Given the description of an element on the screen output the (x, y) to click on. 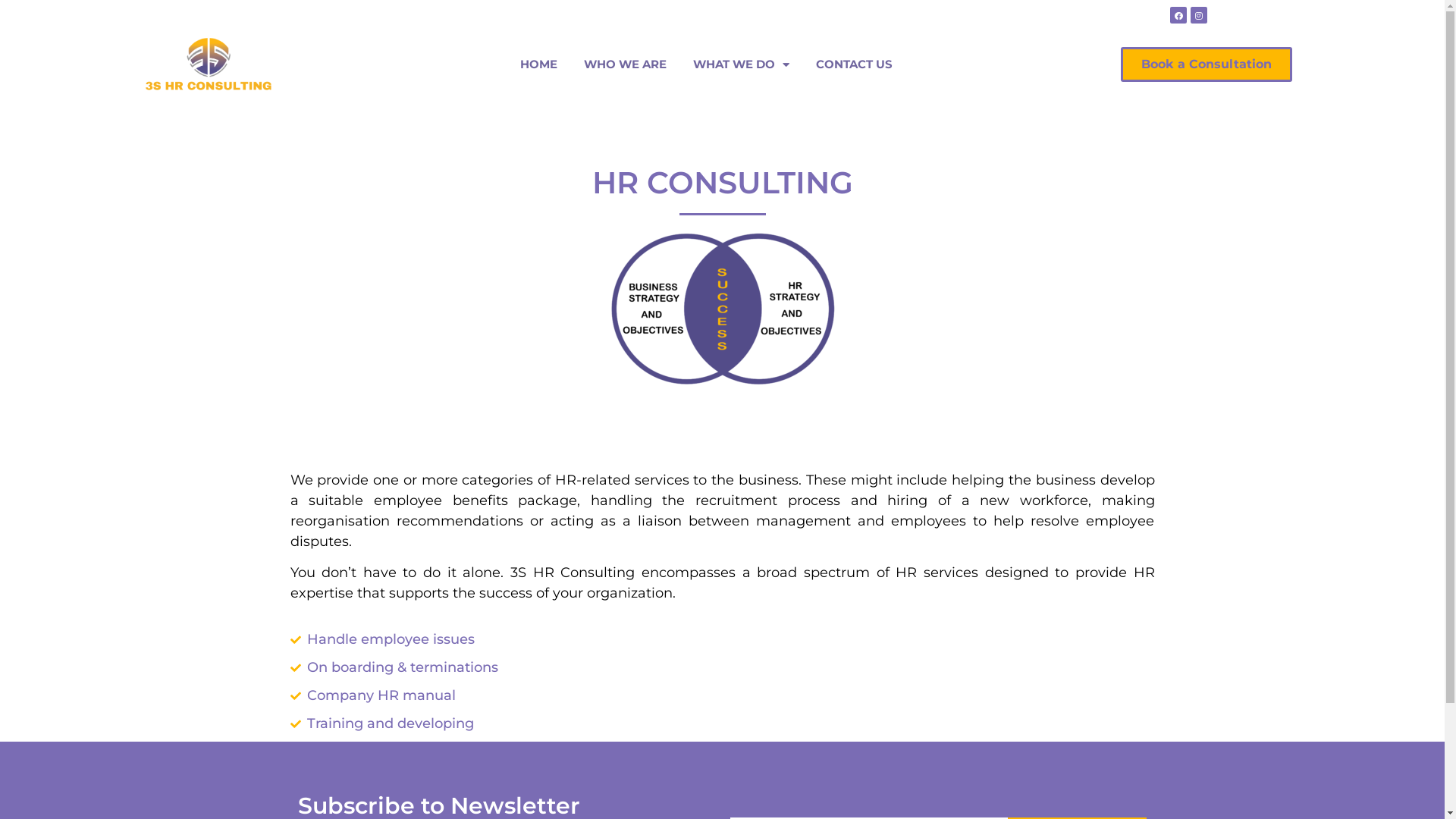
Book a Consultation Element type: text (1206, 64)
WHAT WE DO Element type: text (741, 64)
HOME Element type: text (538, 64)
CONTACT US Element type: text (853, 64)
WHO WE ARE Element type: text (624, 64)
